Given the description of an element on the screen output the (x, y) to click on. 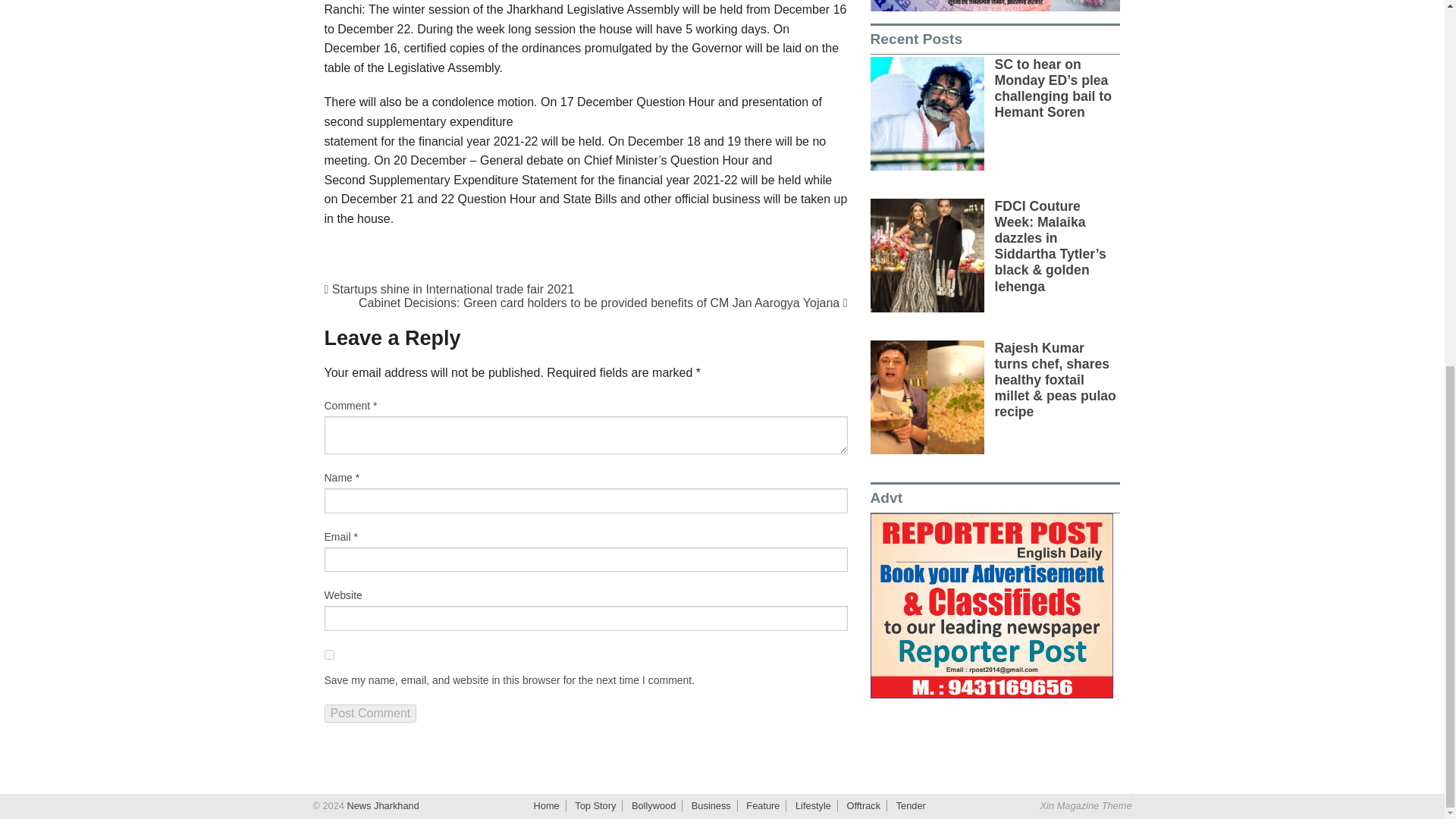
Home (546, 805)
Business (710, 805)
Post Comment (370, 713)
Top Story (595, 805)
Startups shine in International trade fair 2021 (449, 288)
yes (329, 655)
News Jharkhand (381, 805)
Post Comment (370, 713)
Bollywood (653, 805)
Xin Magazine Theme (1086, 805)
